Given the description of an element on the screen output the (x, y) to click on. 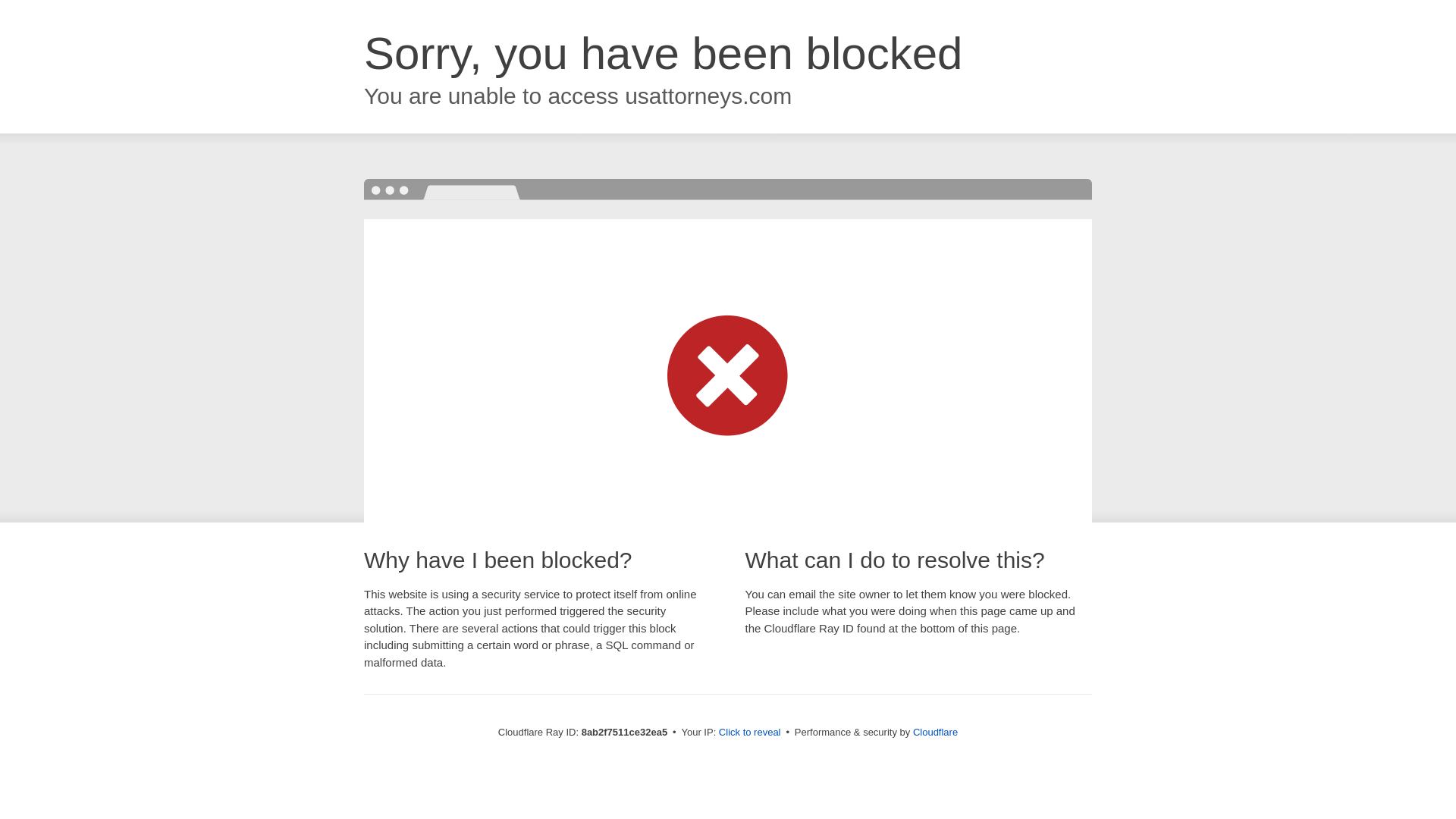
Click to reveal (749, 732)
Cloudflare (935, 731)
